Given the description of an element on the screen output the (x, y) to click on. 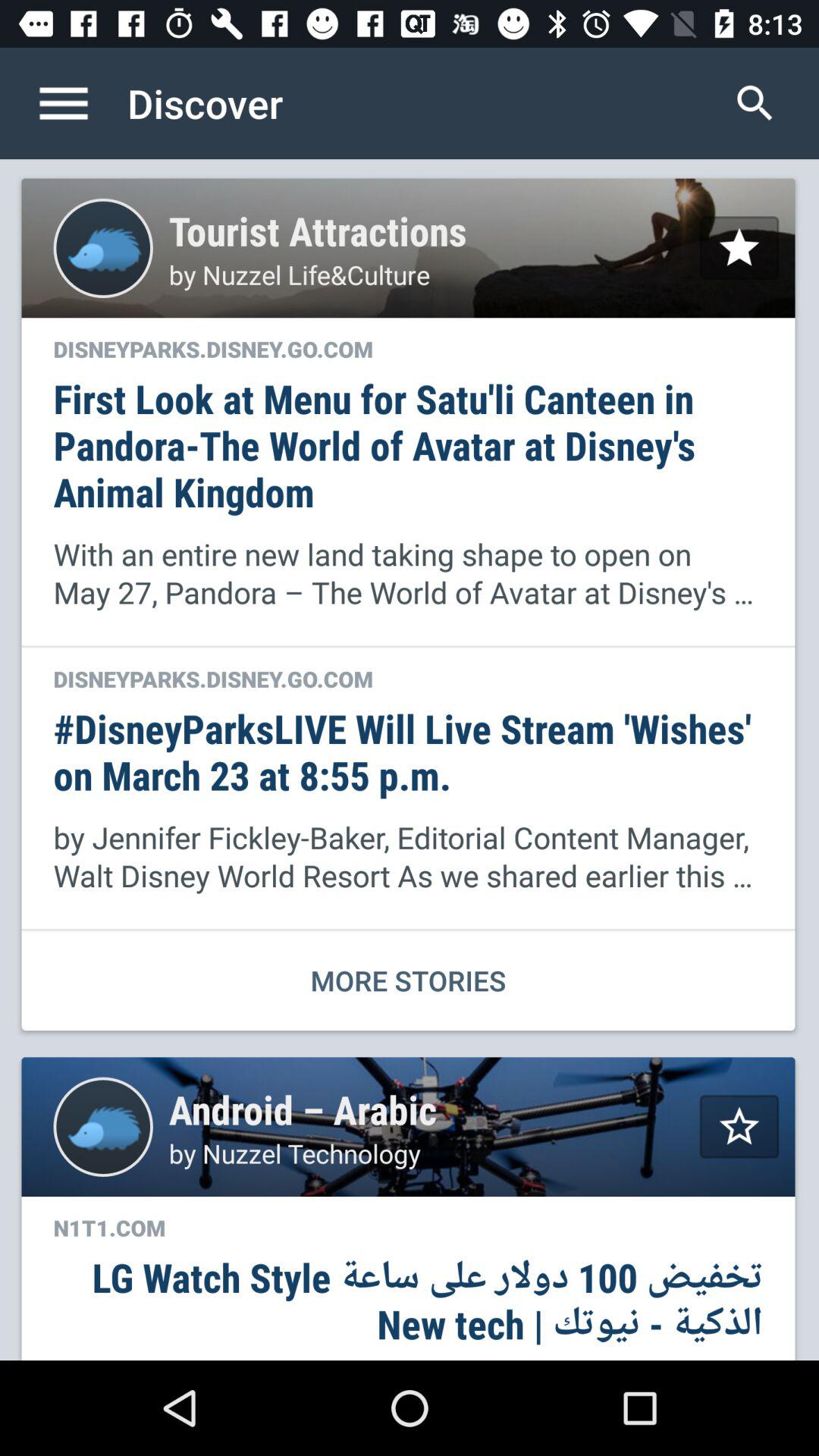
turn off icon to the right of the discover icon (755, 103)
